Given the description of an element on the screen output the (x, y) to click on. 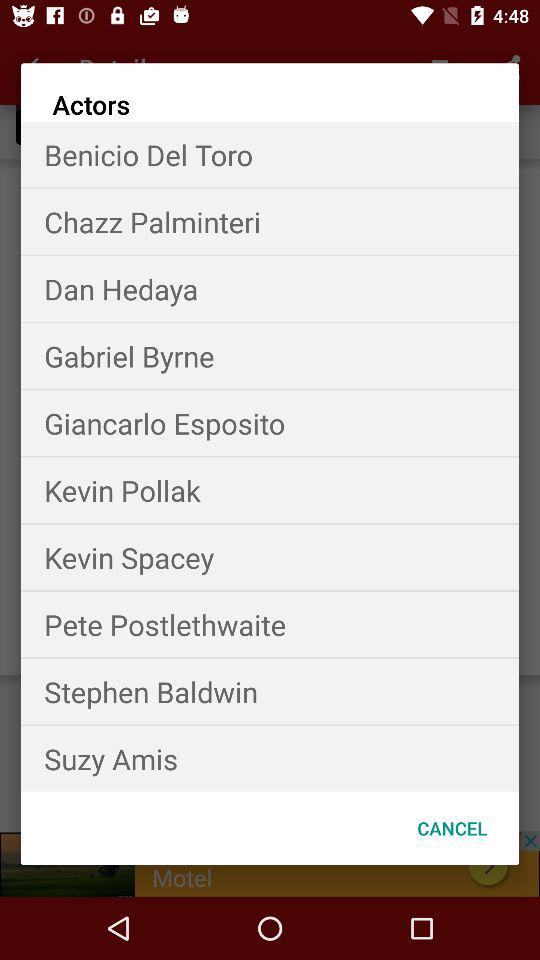
swipe to the    chazz palminteri item (269, 221)
